Given the description of an element on the screen output the (x, y) to click on. 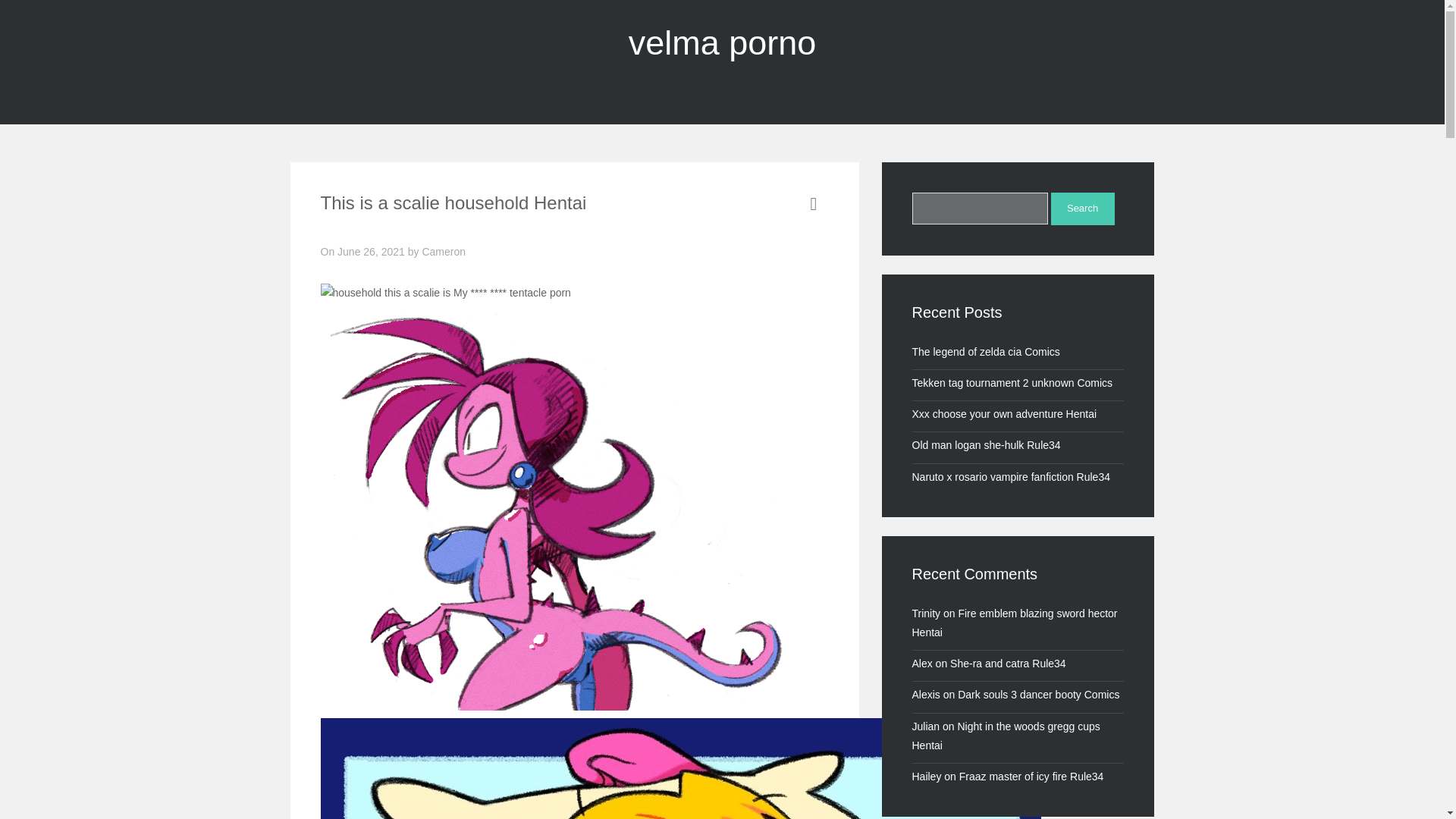
She-ra and catra Rule34 (1007, 663)
velma porno (722, 42)
Night in the woods gregg cups Hentai (1005, 735)
Fire emblem blazing sword hector Hentai (1013, 622)
Fraaz master of icy fire Rule34 (1031, 776)
Search (1083, 208)
Tekken tag tournament 2 unknown Comics (1011, 382)
Search (1083, 208)
Naruto x rosario vampire fanfiction Rule34 (1010, 476)
Xxx choose your own adventure Hentai (1003, 413)
